Given the description of an element on the screen output the (x, y) to click on. 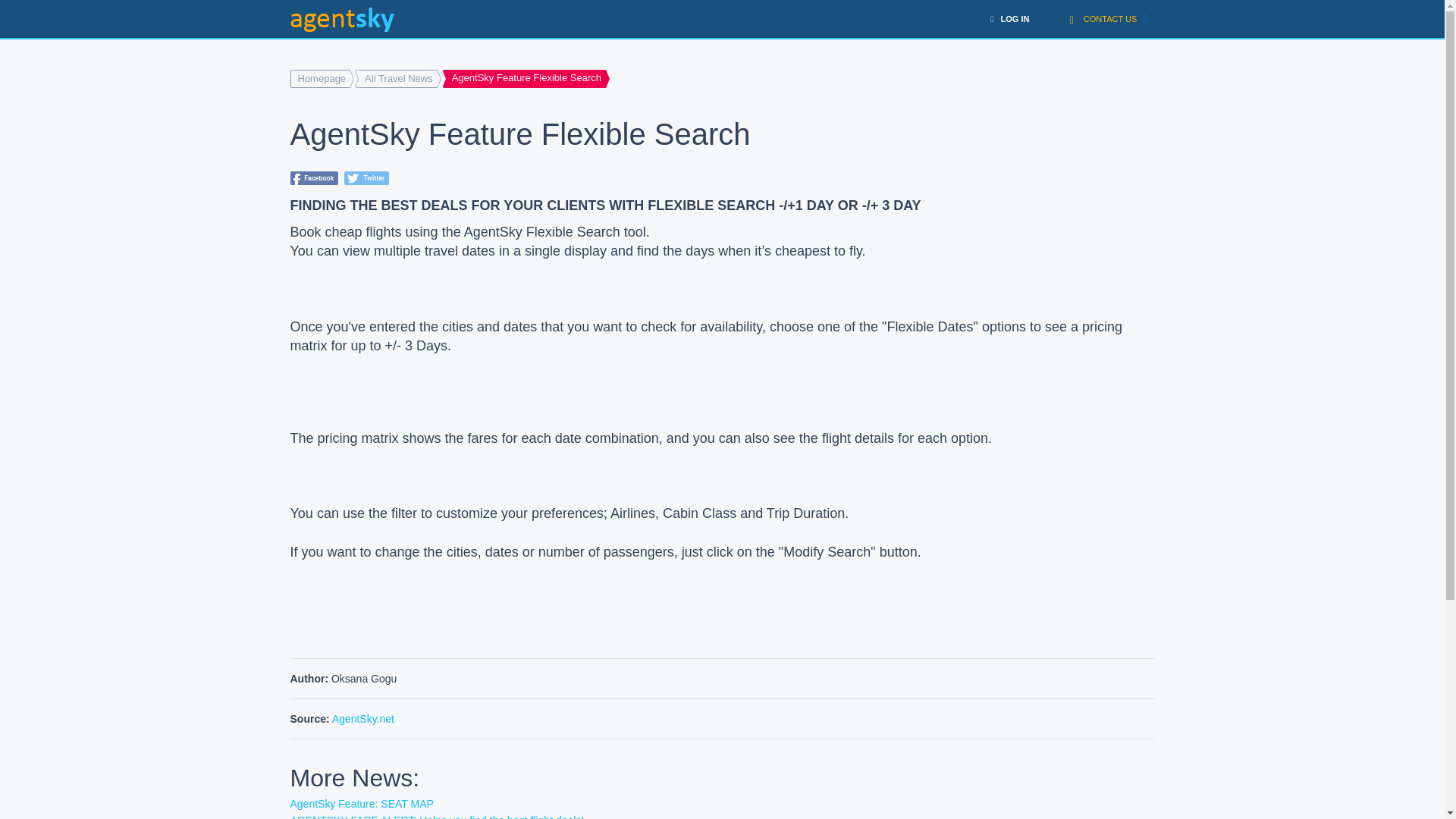
CONTACT US (1107, 18)
AgentSky Feature: SEAT MAP (360, 803)
  LOG IN (1009, 18)
AGENTSKY FARE ALERT: Helps you find the best flight deals! (436, 816)
All Travel News (398, 78)
Homepage (321, 78)
AgentSky.net (362, 718)
AgentSky.Net (341, 19)
